Given the description of an element on the screen output the (x, y) to click on. 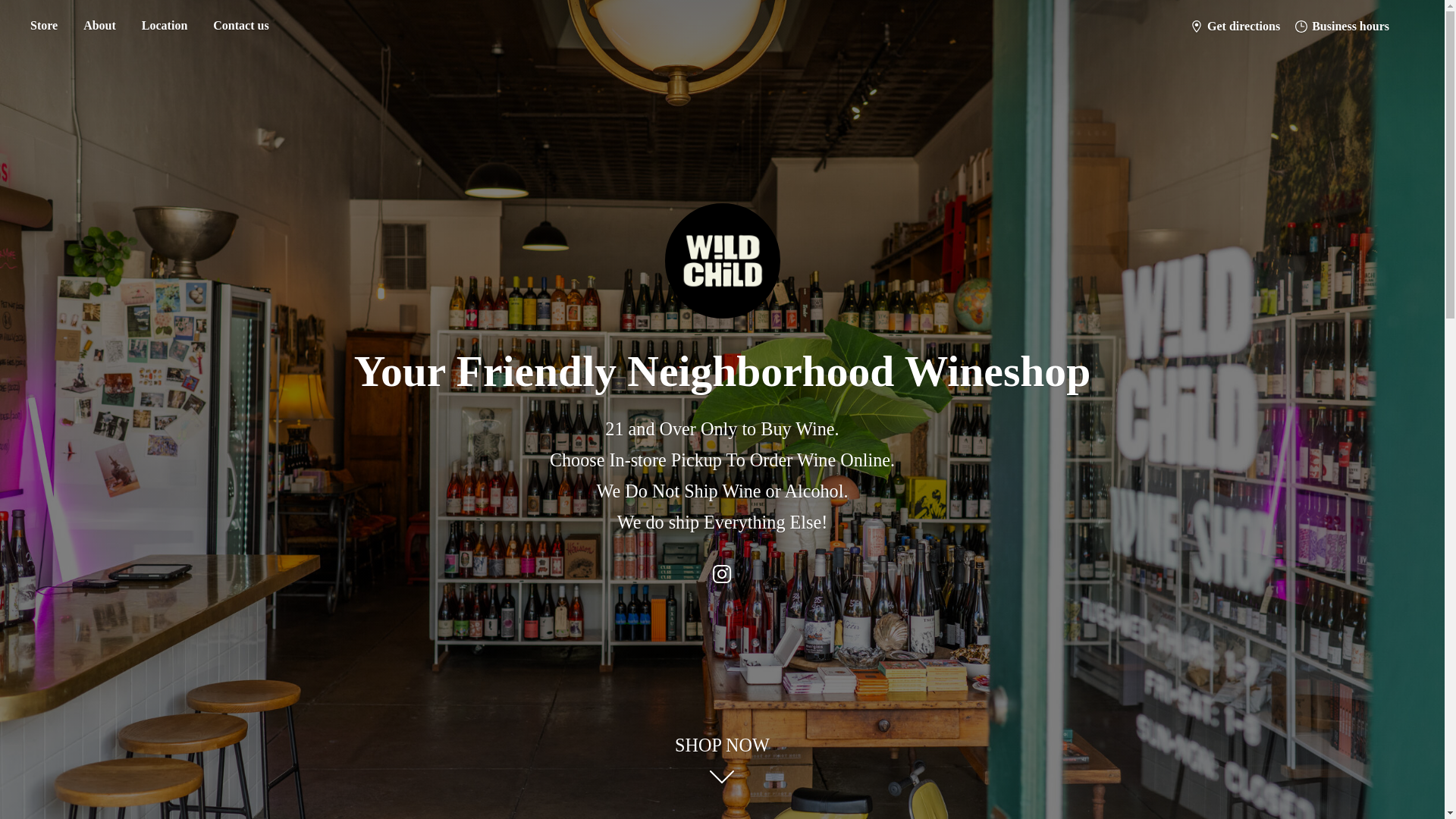
Get directions (1234, 26)
Contact us (240, 25)
Store (43, 25)
Business hours (1341, 26)
Location (164, 25)
About (99, 25)
